Given the description of an element on the screen output the (x, y) to click on. 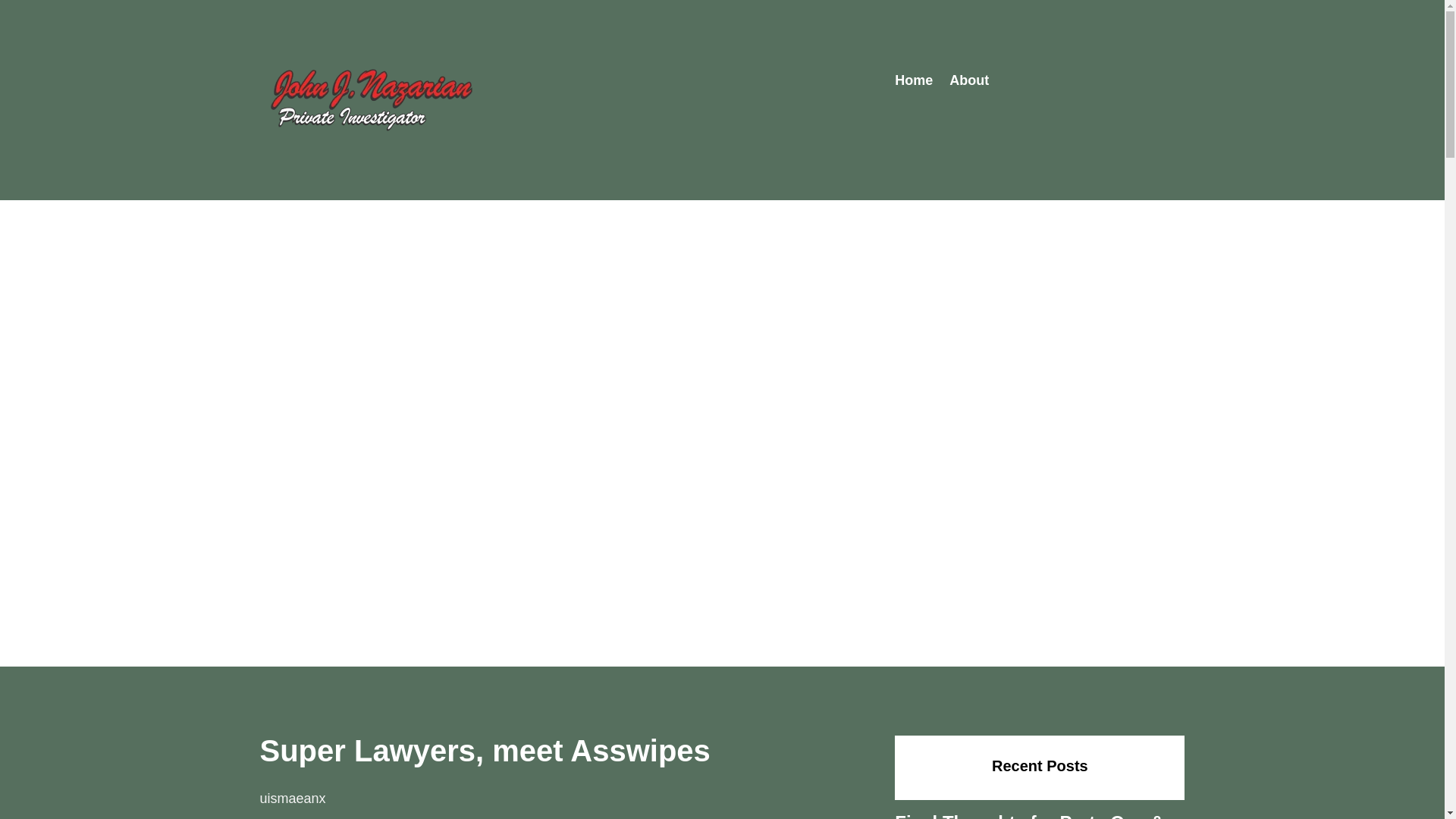
Home (914, 83)
About (968, 83)
